Given the description of an element on the screen output the (x, y) to click on. 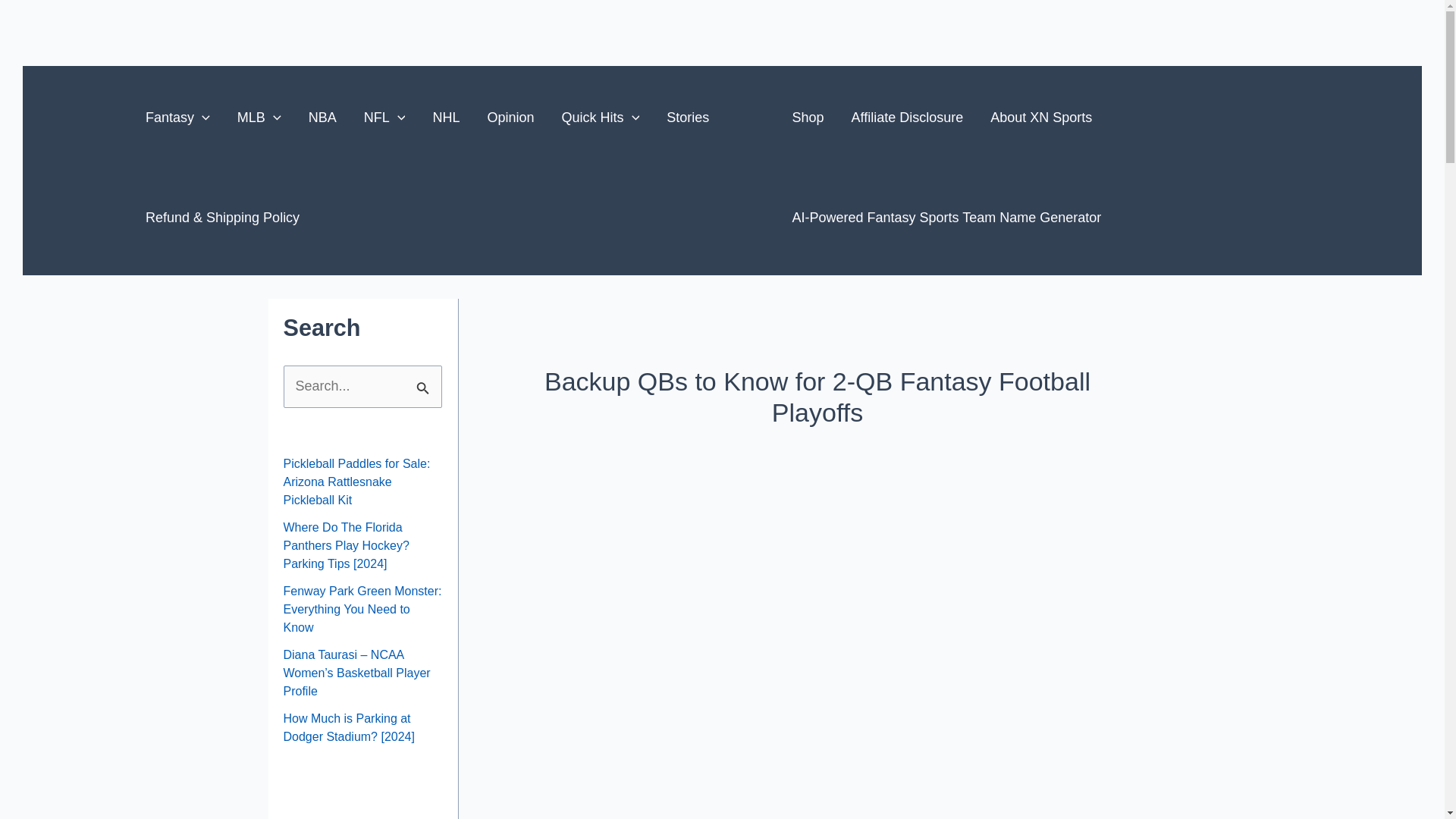
Fantasy (178, 117)
Search (424, 381)
Quick Hits (600, 117)
Affiliate Disclosure (906, 117)
Search (424, 381)
About XN Sports (1040, 117)
AI-Powered Fantasy Sports Team Name Generator (946, 217)
